Given the description of an element on the screen output the (x, y) to click on. 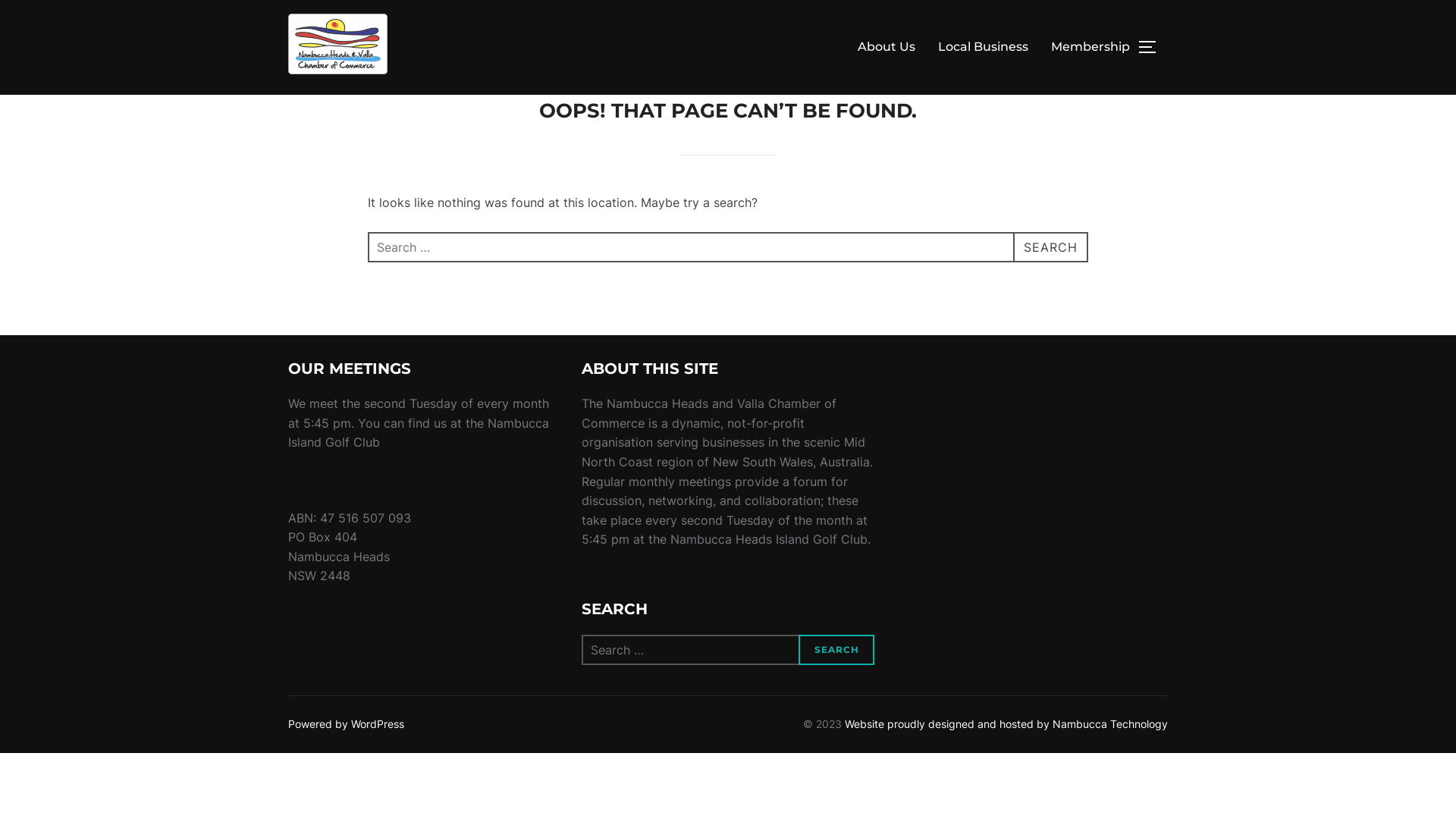
SEARCH Element type: text (1050, 247)
About Us Element type: text (886, 46)
Powered by WordPress Element type: text (346, 723)
Website proudly designed and hosted by Nambucca Technology Element type: text (1005, 723)
SEARCH Element type: text (836, 649)
TOGGLE SIDEBAR & NAVIGATION Element type: text (1152, 46)
Local Business Element type: text (983, 46)
Membership Element type: text (1090, 46)
